Given the description of an element on the screen output the (x, y) to click on. 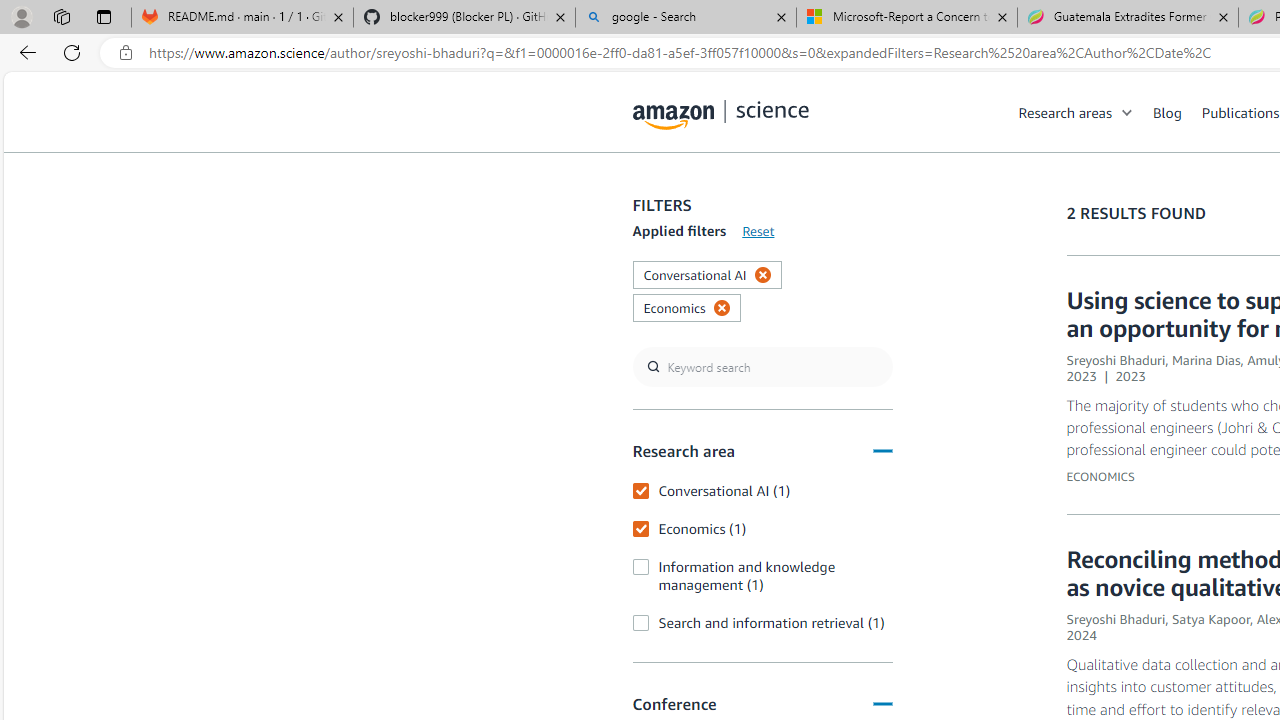
Satya Kapoor (1210, 619)
Microsoft-Report a Concern to Bing (907, 17)
Marina Dias (1206, 360)
google - Search (686, 17)
search (762, 367)
